Given the description of an element on the screen output the (x, y) to click on. 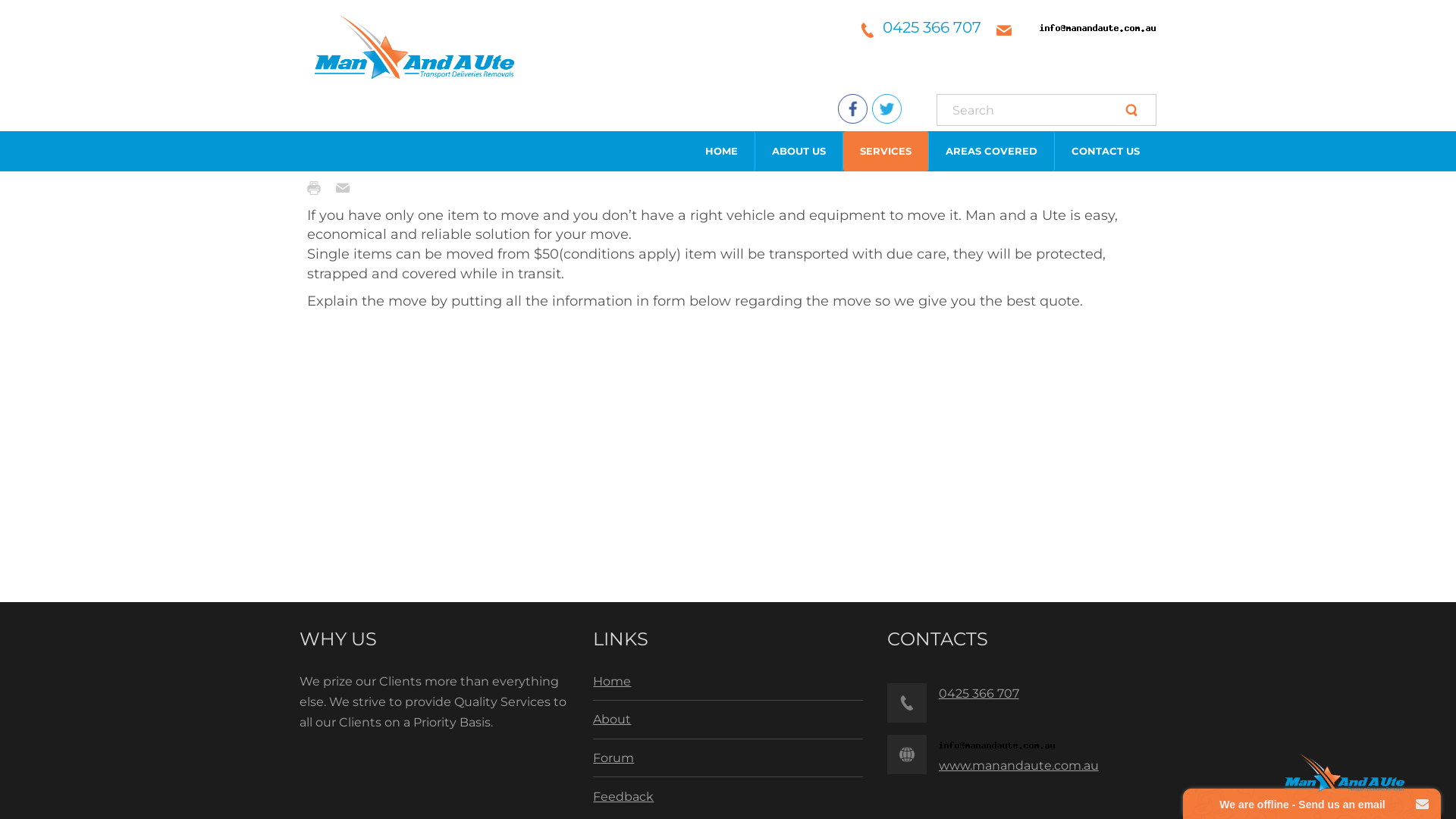
Home Element type: text (611, 681)
AREAS COVERED Element type: text (991, 151)
0425 366 707 Element type: text (931, 27)
www.manandaute.com.au Element type: text (1018, 765)
Feedback Element type: text (623, 796)
HOME Element type: text (721, 151)
ABOUT US Element type: text (799, 151)
CONTACT US Element type: text (1105, 151)
0425 366 707 Element type: text (978, 693)
Email this link to a friend Element type: hover (346, 187)
Print article < Single Item > Element type: hover (317, 187)
About Element type: text (611, 719)
Forum Element type: text (613, 757)
SERVICES Element type: text (885, 151)
